Given the description of an element on the screen output the (x, y) to click on. 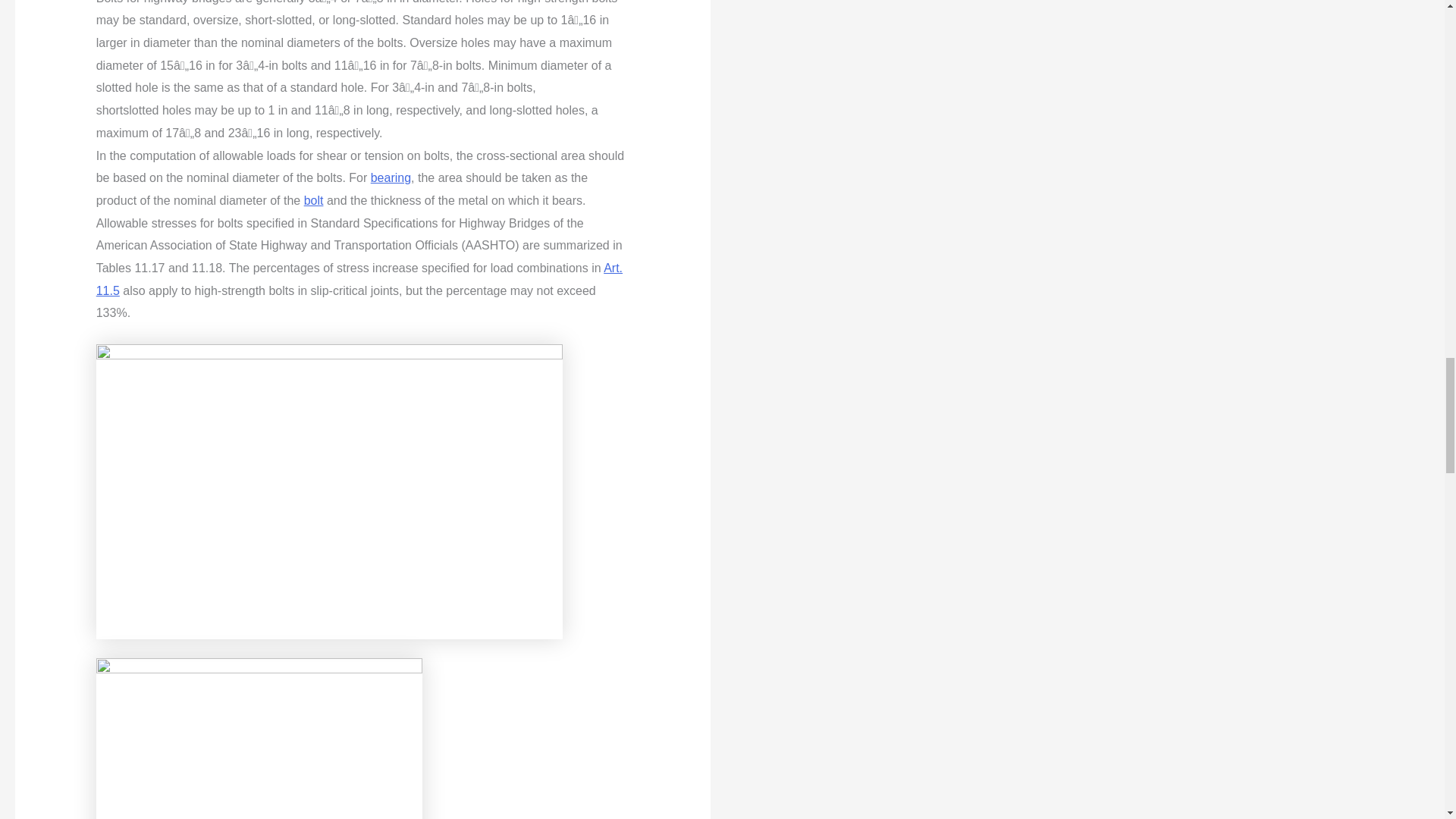
bolt (313, 200)
bearing (390, 177)
